Given the description of an element on the screen output the (x, y) to click on. 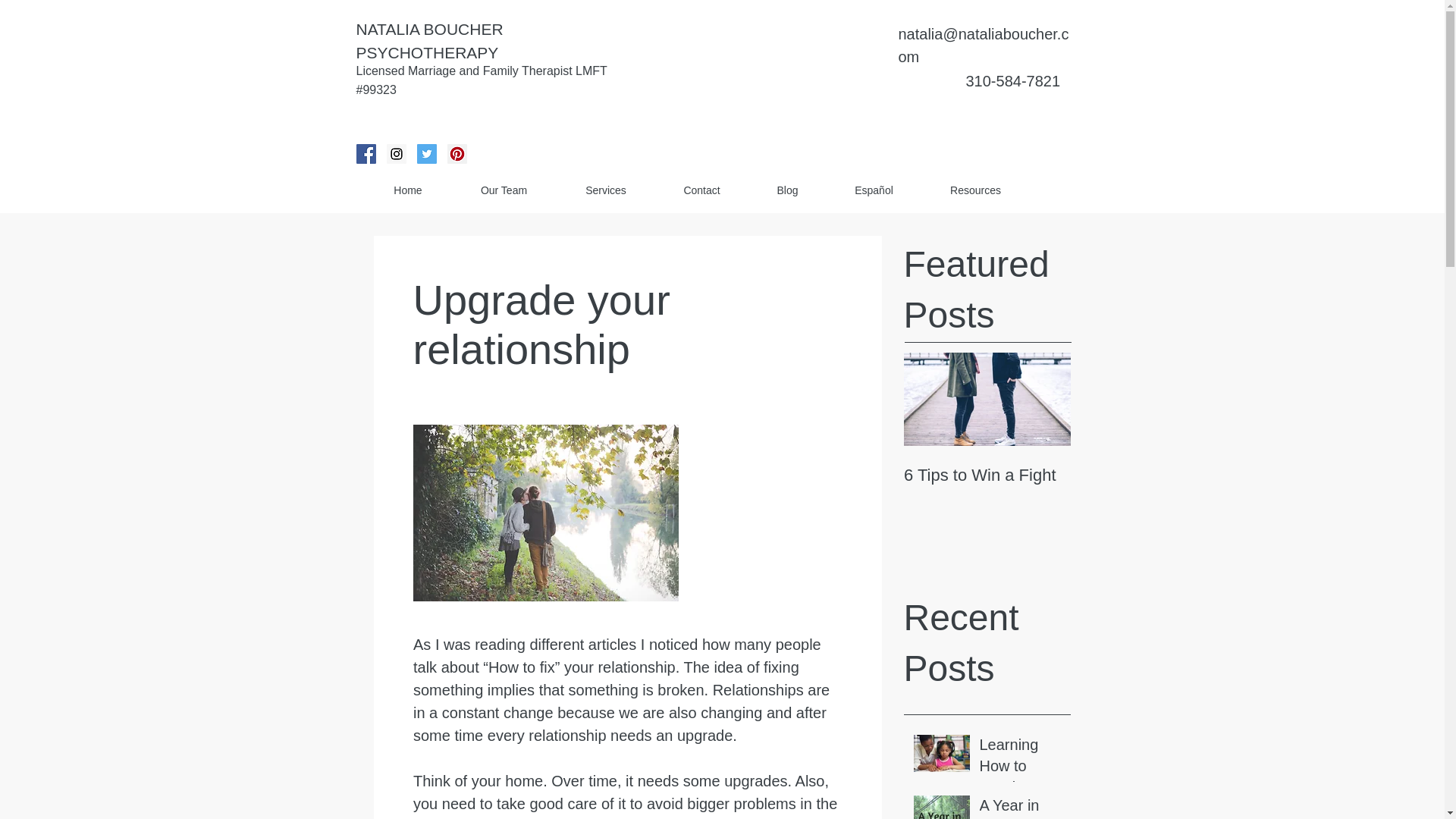
6 Tips to Win a Fight (987, 475)
A Year in Review (1020, 806)
Services (604, 189)
Blog (788, 189)
Contact (702, 189)
Home (408, 189)
Learning How to Juggle 101 (1020, 768)
Our Team (502, 189)
